Given the description of an element on the screen output the (x, y) to click on. 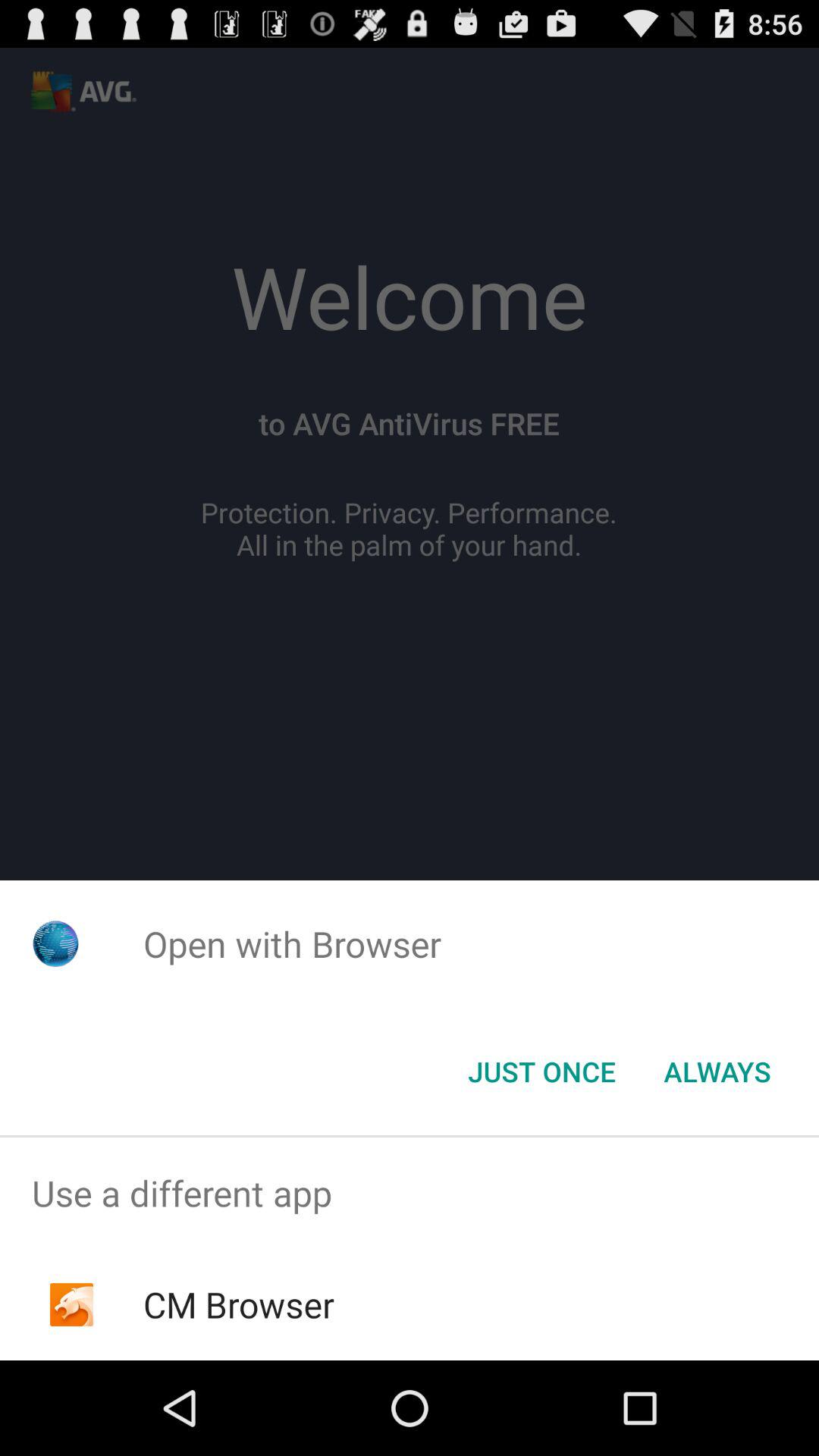
tap the item below the use a different (238, 1304)
